Given the description of an element on the screen output the (x, y) to click on. 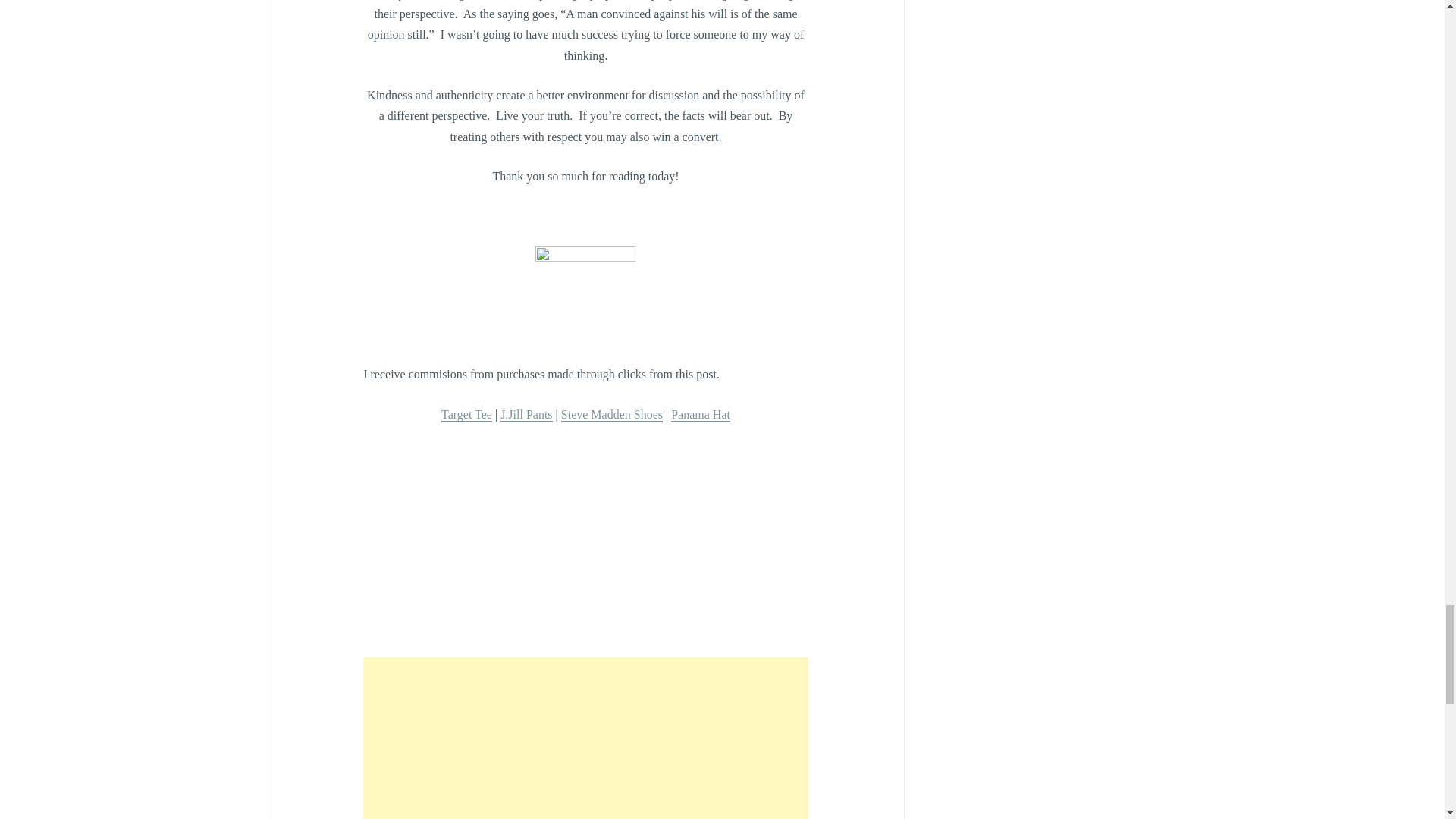
Target Tee (466, 414)
J.Jill Pants (525, 414)
Panama Hat (700, 414)
Steve Madden Shoes (611, 414)
